Given the description of an element on the screen output the (x, y) to click on. 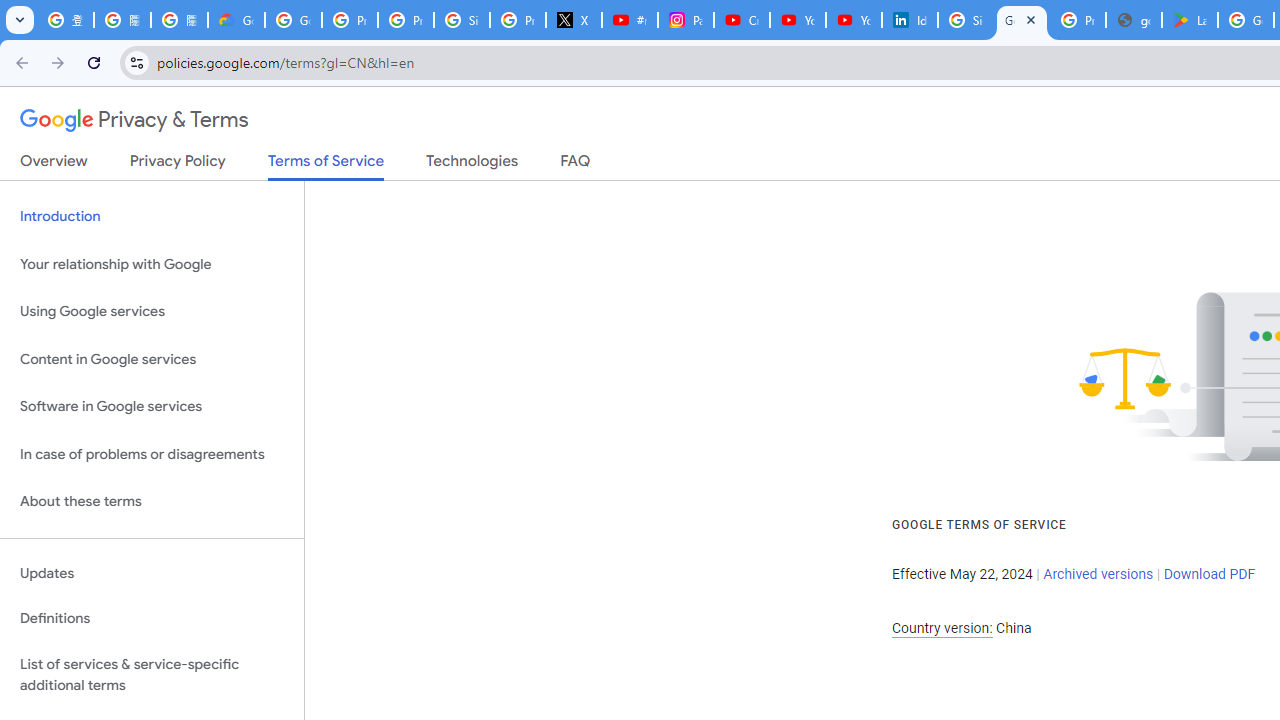
Country version: (942, 628)
